Given the description of an element on the screen output the (x, y) to click on. 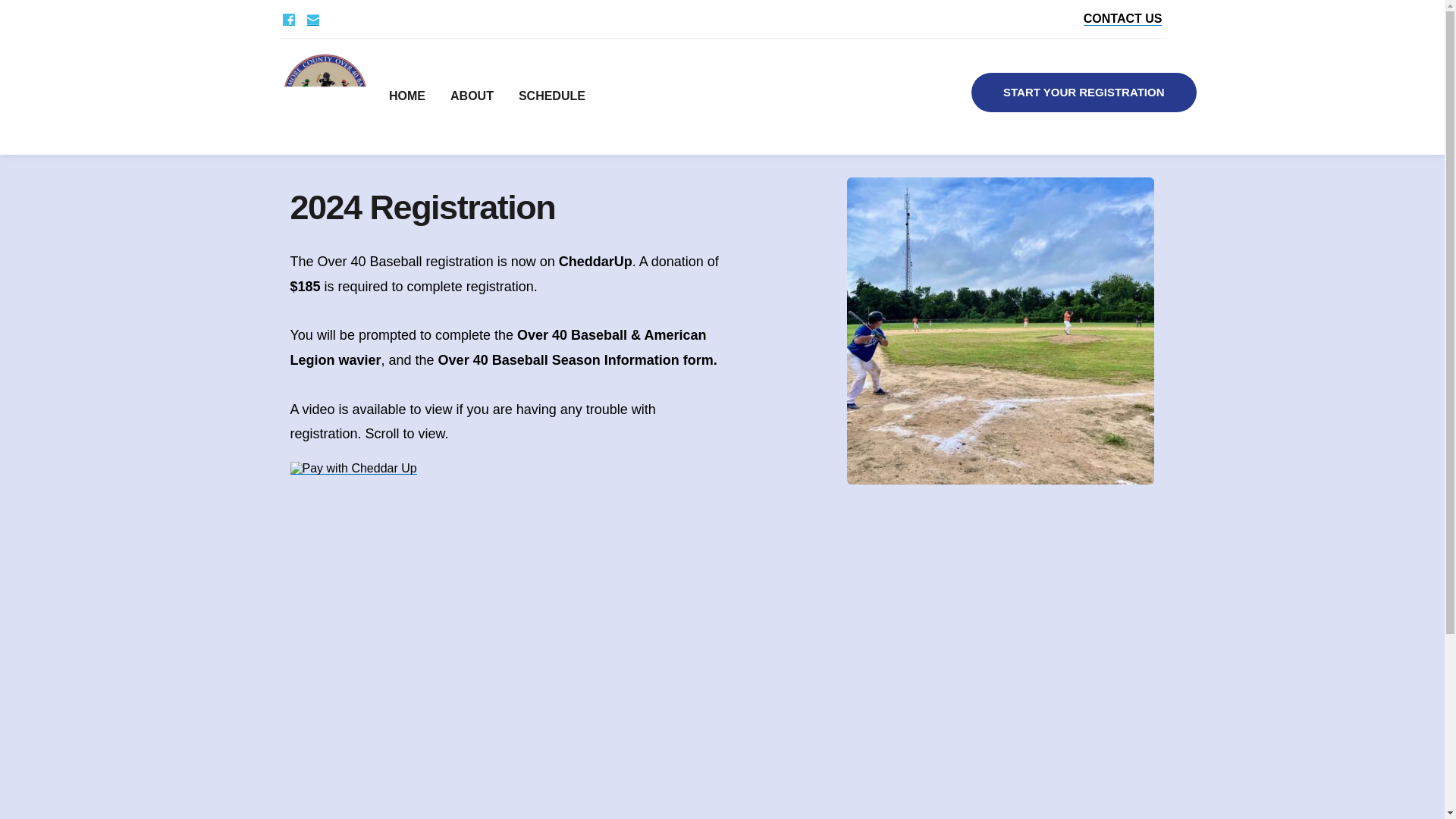
START YOUR REGISTRATION (1083, 92)
SCHEDULE (543, 96)
CONTACT US (1122, 18)
HOME (398, 96)
ABOUT (463, 96)
